Given the description of an element on the screen output the (x, y) to click on. 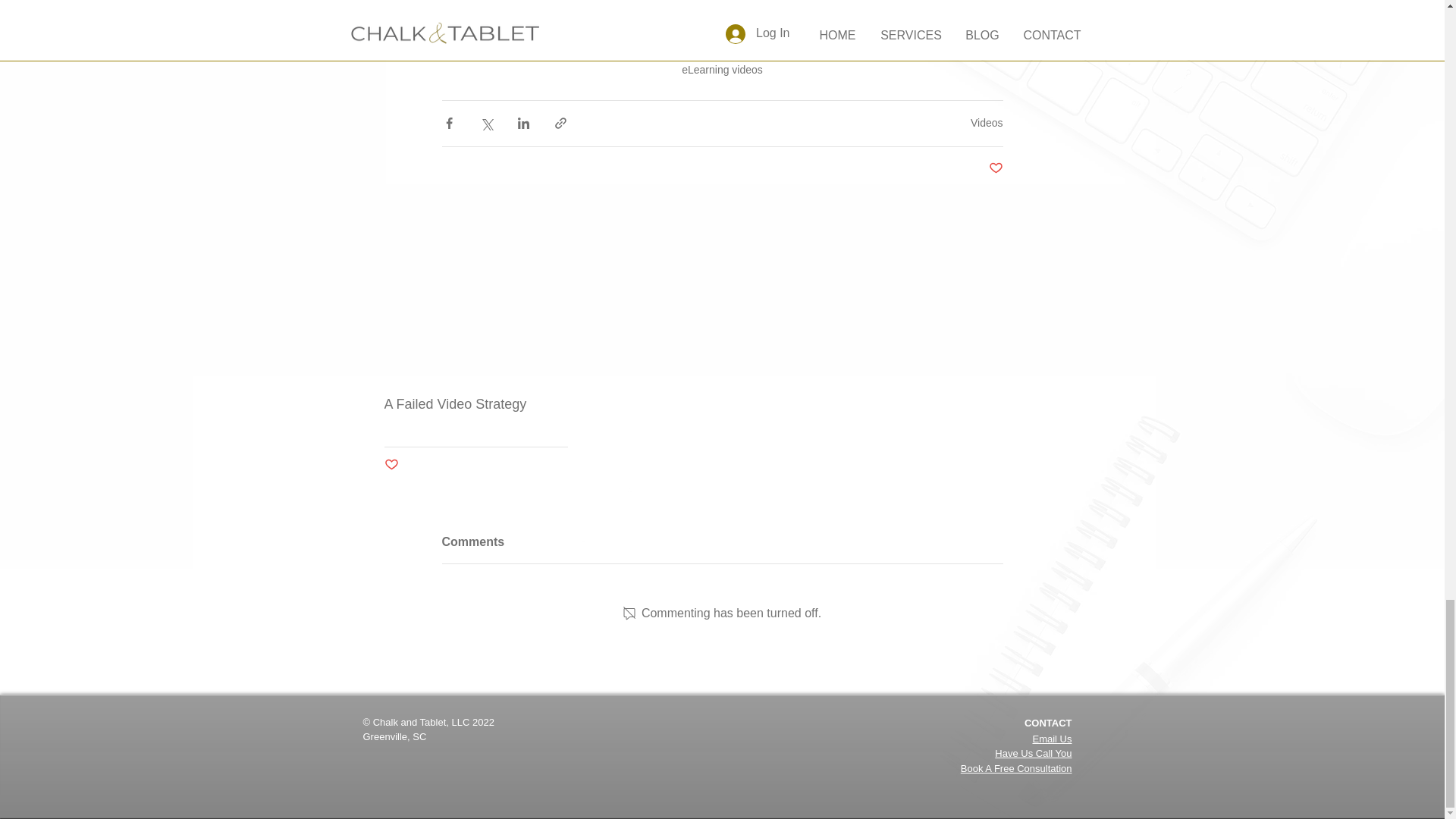
Post not marked as liked (390, 465)
Book A Free Consultation (1015, 767)
Post not marked as liked (995, 168)
A Failed Video Strategy (475, 404)
Email Us (1051, 738)
Videos (987, 122)
course plan (713, 2)
eLearning videos (721, 69)
Have Us Call You (1032, 753)
